Given the description of an element on the screen output the (x, y) to click on. 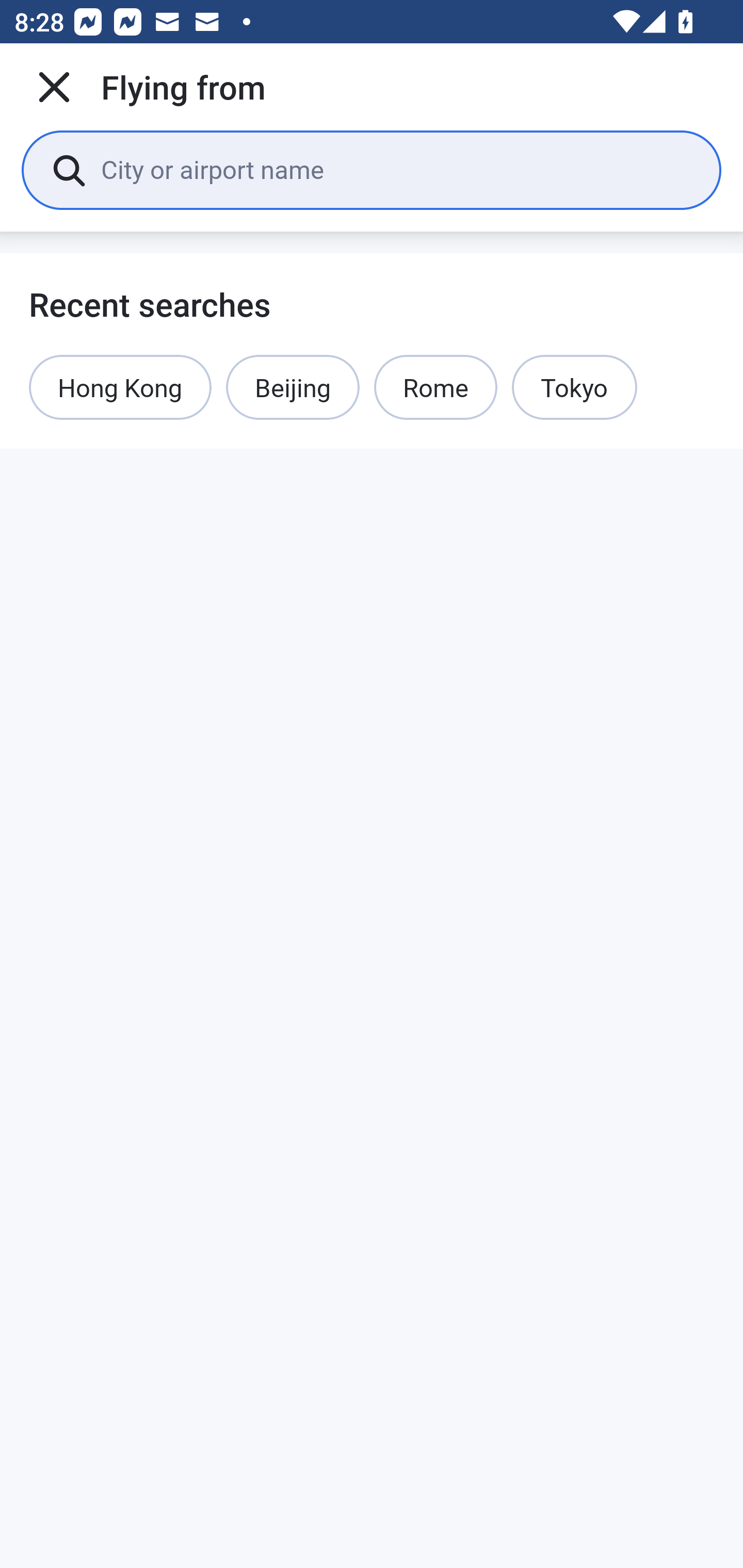
City or airport name (396, 169)
Hong Kong (119, 387)
Beijing (292, 387)
Rome (435, 387)
Tokyo (574, 387)
